Given the description of an element on the screen output the (x, y) to click on. 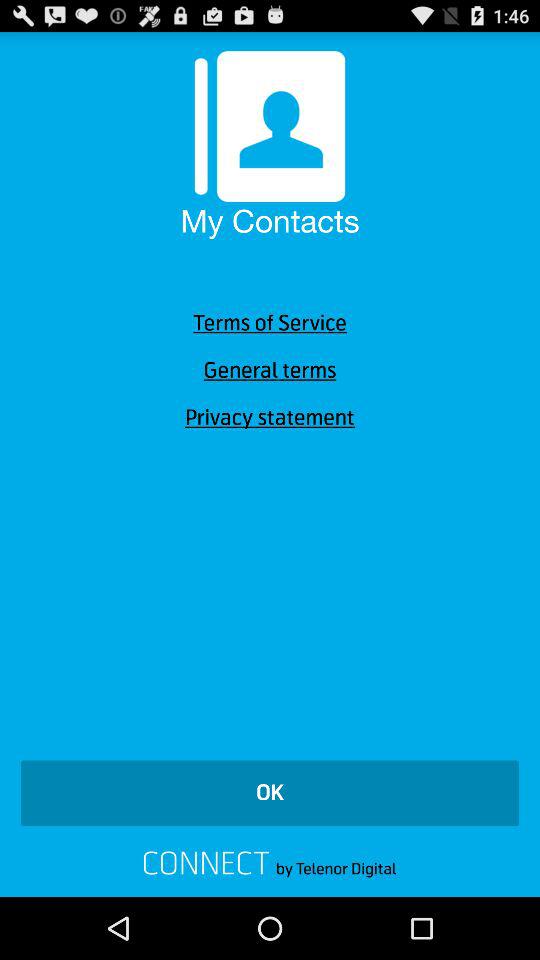
flip to general terms item (270, 370)
